Given the description of an element on the screen output the (x, y) to click on. 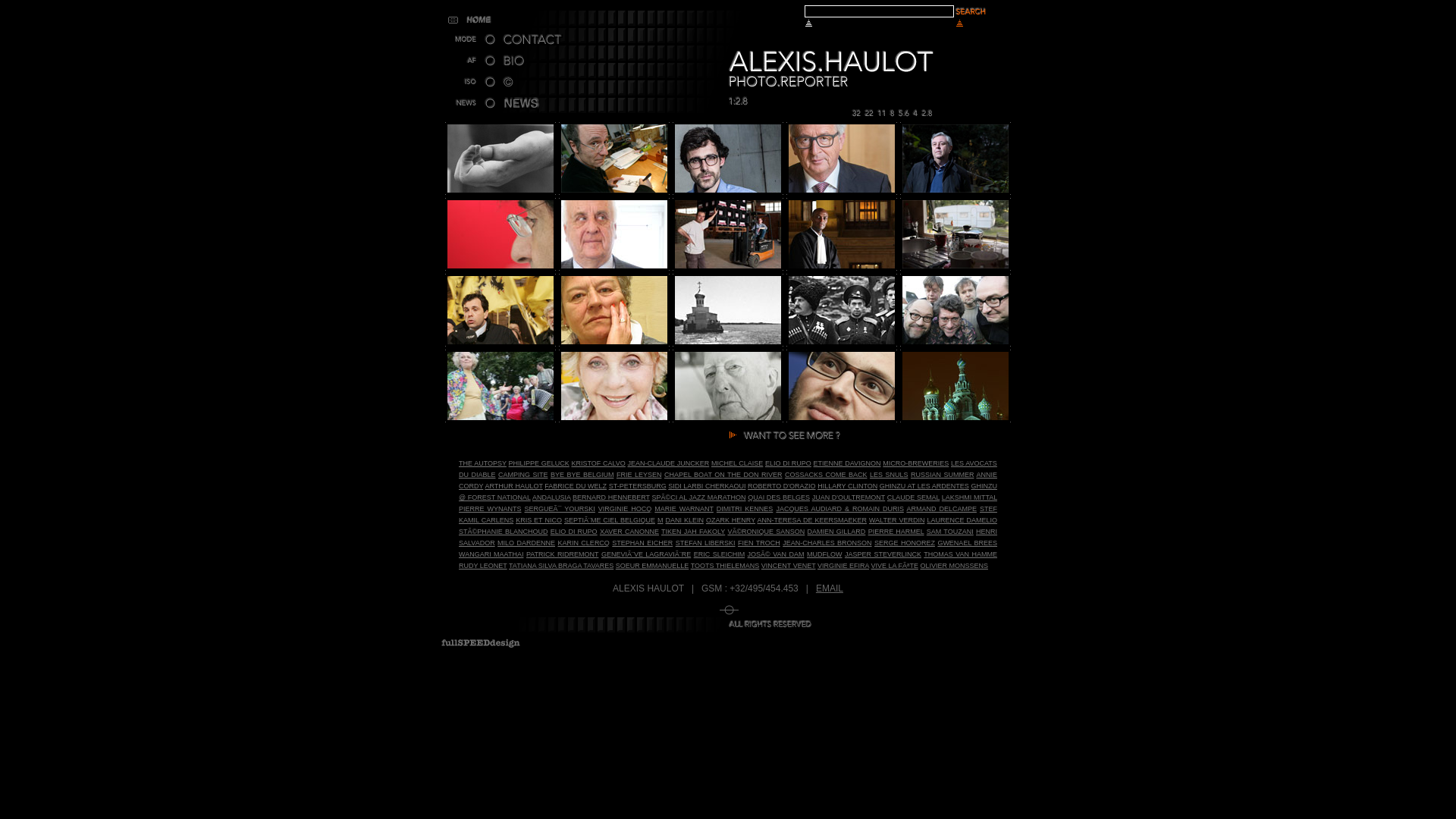
TIKEN JAH FAKOLY Element type: text (692, 531)
RUDY LEONET Element type: text (482, 565)
EMAIL Element type: text (829, 588)
GHINZU AT LES ARDENTES Element type: text (924, 485)
LAKSHMI MITTAL Element type: text (969, 497)
DAMIEN GILLARD Element type: text (836, 531)
CHAPEL BOAT ON THE DON RIVER Element type: text (723, 474)
CAMPING SITE Element type: text (522, 474)
STEF KAMIL CARLENS Element type: text (727, 514)
BERNARD HENNEBERT Element type: text (610, 497)
JEAN-CLAUDE JUNCKER Element type: text (668, 463)
LAURENCE DAMELIO Element type: text (961, 520)
FRIE LEYSEN Element type: text (639, 474)
VIRGINIE HOCQ Element type: text (625, 508)
OLIVIER MONSSENS Element type: text (953, 565)
QUAI DES BELGES Element type: text (778, 497)
CLAUDE SEMAL Element type: text (913, 497)
ST-PETERSBURG Element type: text (637, 485)
PATRICK RIDREMONT Element type: text (562, 554)
MUDFLOW Element type: text (824, 554)
DIMITRI KENNES Element type: text (744, 508)
THE AUTOPSY Element type: text (482, 463)
ERIC SLEICHIM Element type: text (718, 554)
GHINZU @ FOREST NATIONAL Element type: text (727, 491)
HILLARY CLINTON Element type: text (847, 485)
MICRO-BREWERIES Element type: text (915, 463)
M Element type: text (660, 520)
TATIANA SILVA BRAGA TAVARES Element type: text (560, 565)
JEAN-CHARLES BRONSON Element type: text (826, 542)
LES SNULS Element type: text (888, 474)
ANDALUSIA Element type: text (551, 497)
VIRGINIE EFIRA Element type: text (843, 565)
ARTHUR HAULOT Element type: text (513, 485)
SIDI LARBI CHERKAOUI Element type: text (706, 485)
MICHEL CLAISE Element type: text (736, 463)
XAVER CANONNE Element type: text (628, 531)
STEPHAN EICHER Element type: text (641, 542)
TOOTS THIELEMANS Element type: text (724, 565)
THOMAS VAN HAMME Element type: text (960, 554)
JASPER STEVERLINCK Element type: text (882, 554)
OZARK HENRY Element type: text (730, 520)
BYE BYE BELGIUM Element type: text (581, 474)
ANN-TERESA DE KEERSMAEKER Element type: text (811, 520)
SERGE HONOREZ Element type: text (904, 542)
ELIO DI RUPO Element type: text (573, 531)
JACQUES AUDIARD & ROMAIN DURIS Element type: text (839, 508)
ARMAND DELCAMPE Element type: text (941, 508)
JUAN D'OULTREMONT Element type: text (848, 497)
MARIE WARNANT Element type: text (683, 508)
PHILIPPE GELUCK Element type: text (538, 463)
VINCENT VENET Element type: text (788, 565)
WANGARI MAATHAI Element type: text (490, 554)
PIERRE WYNANTS Element type: text (489, 508)
KARIN CLERCQ Element type: text (582, 542)
ELIO DI RUPO Element type: text (788, 463)
SAM TOUZANI Element type: text (949, 531)
FIEN TROCH Element type: text (758, 542)
LES AVOCATS DU DIABLE Element type: text (727, 468)
WALTER VERDIN Element type: text (896, 520)
ETIENNE DAVIGNON Element type: text (847, 463)
GWENAEL BREES Element type: text (967, 542)
ROBERTO D'ORAZIO Element type: text (781, 485)
MILO DARDENNE Element type: text (526, 542)
COSSACKS COME BACK Element type: text (825, 474)
SOEUR EMMANUELLE Element type: text (652, 565)
FABRICE DU WELZ Element type: text (575, 485)
RUSSIAN SUMMER Element type: text (941, 474)
ANNIE CORDY Element type: text (727, 479)
KRISTOF CALVO Element type: text (597, 463)
PIERRE HARMEL Element type: text (896, 531)
KRIS ET NICO Element type: text (538, 520)
DANI KLEIN Element type: text (683, 520)
STEFAN LIBERSKI Element type: text (705, 542)
HENRI SALVADOR Element type: text (727, 536)
